Given the description of an element on the screen output the (x, y) to click on. 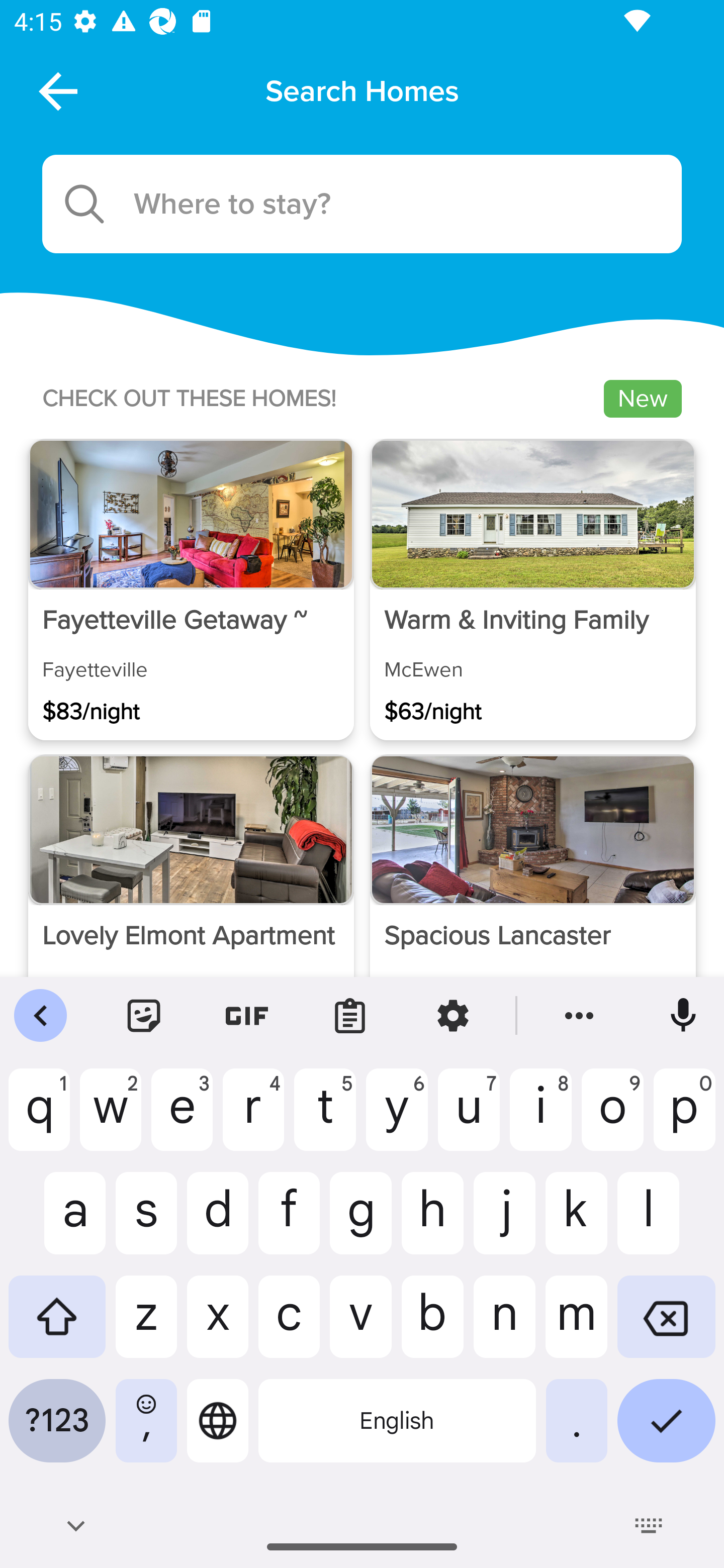
Icon close screen (55, 90)
Search icon Where to stay? (361, 204)
